Given the description of an element on the screen output the (x, y) to click on. 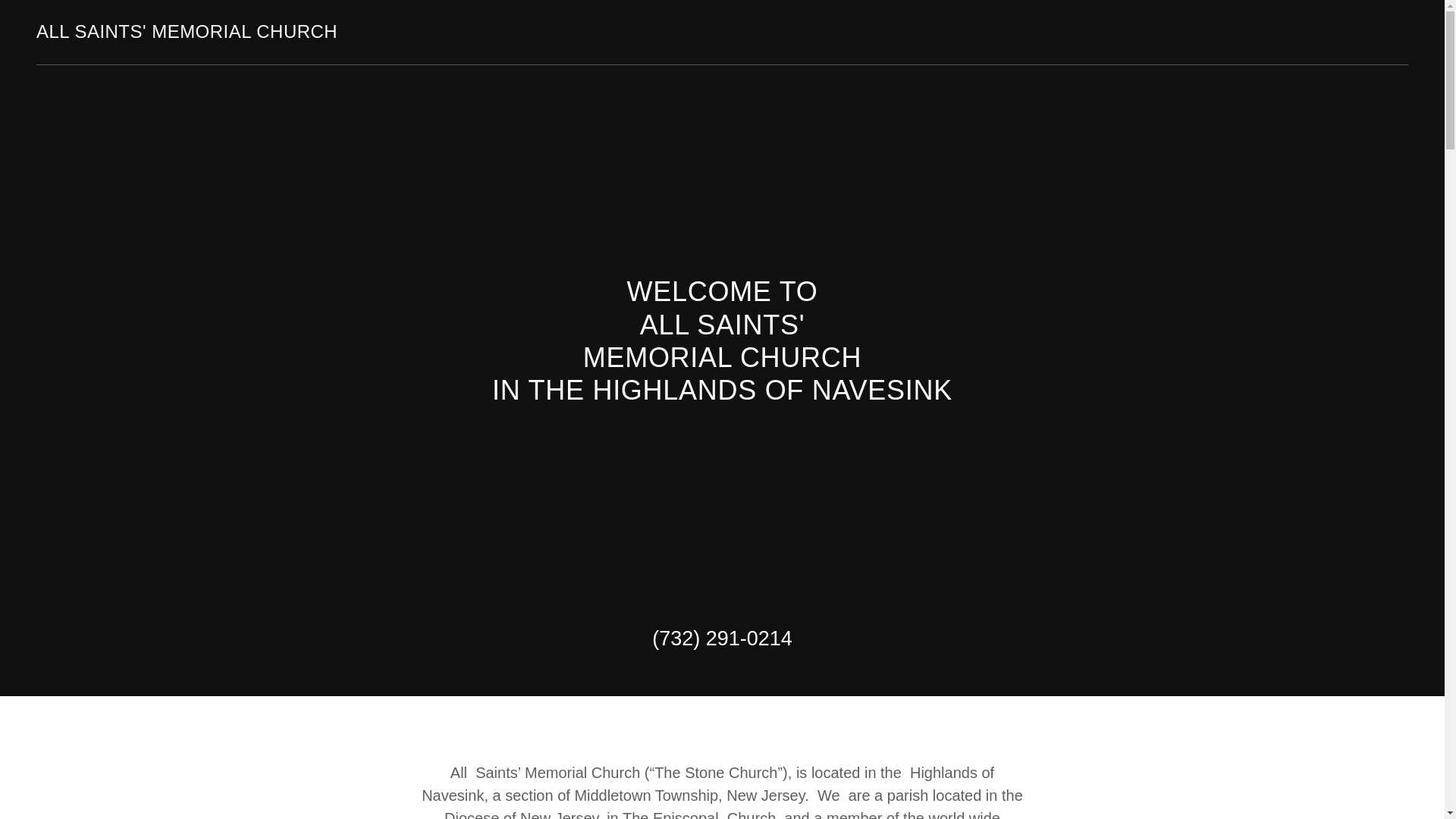
ALL SAINTS' MEMORIAL CHURCH (186, 32)
All Saints' Memorial Church  (186, 32)
